Given the description of an element on the screen output the (x, y) to click on. 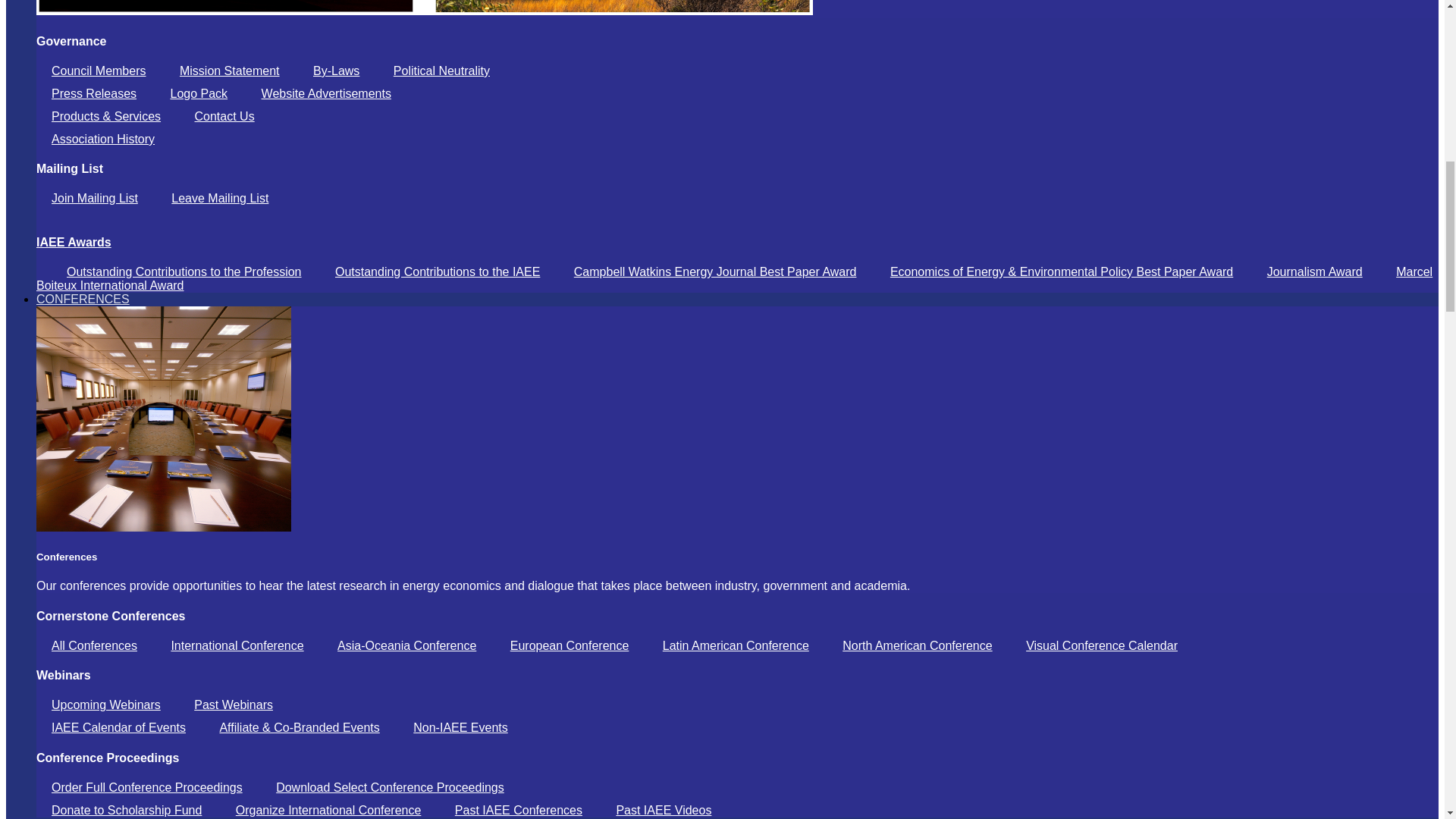
Outstanding Contributions to the IAEE (437, 271)
Join Mailing List (94, 197)
Outstanding Contributions to the Profession (183, 271)
Council Members (98, 70)
Leave (219, 197)
Logo Pack (198, 92)
European Conference (570, 645)
Visual Conference Calendar (1101, 645)
Order Full Conference Proceedings (146, 787)
Political Neutrality (441, 70)
IAEE Calendar of Events (118, 727)
Organize International Conference (328, 809)
Download Select Conference Proceedings (389, 787)
All Conferences (94, 645)
Political Neutrality (441, 70)
